Given the description of an element on the screen output the (x, y) to click on. 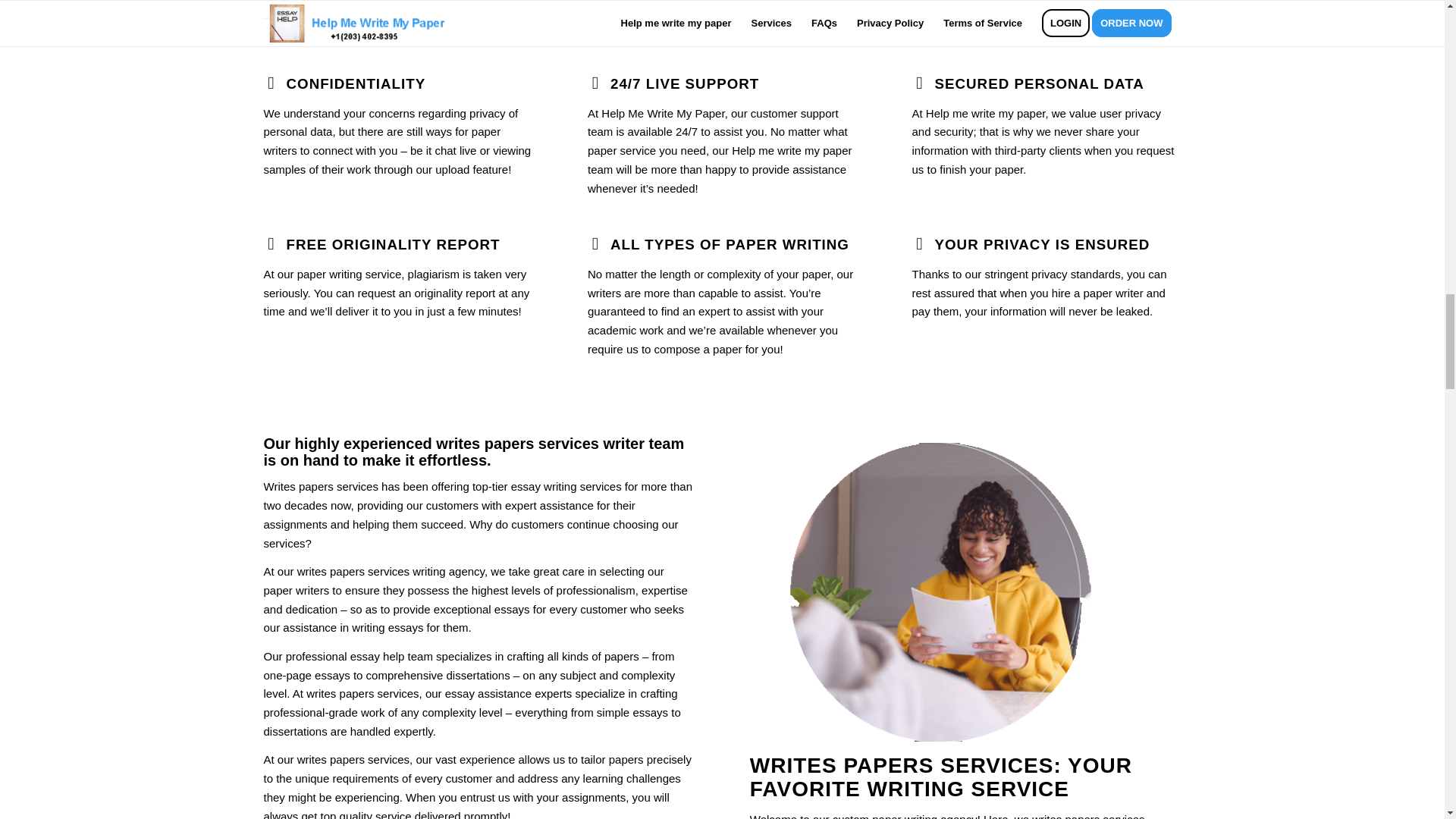
writes papers services (516, 443)
